Given the description of an element on the screen output the (x, y) to click on. 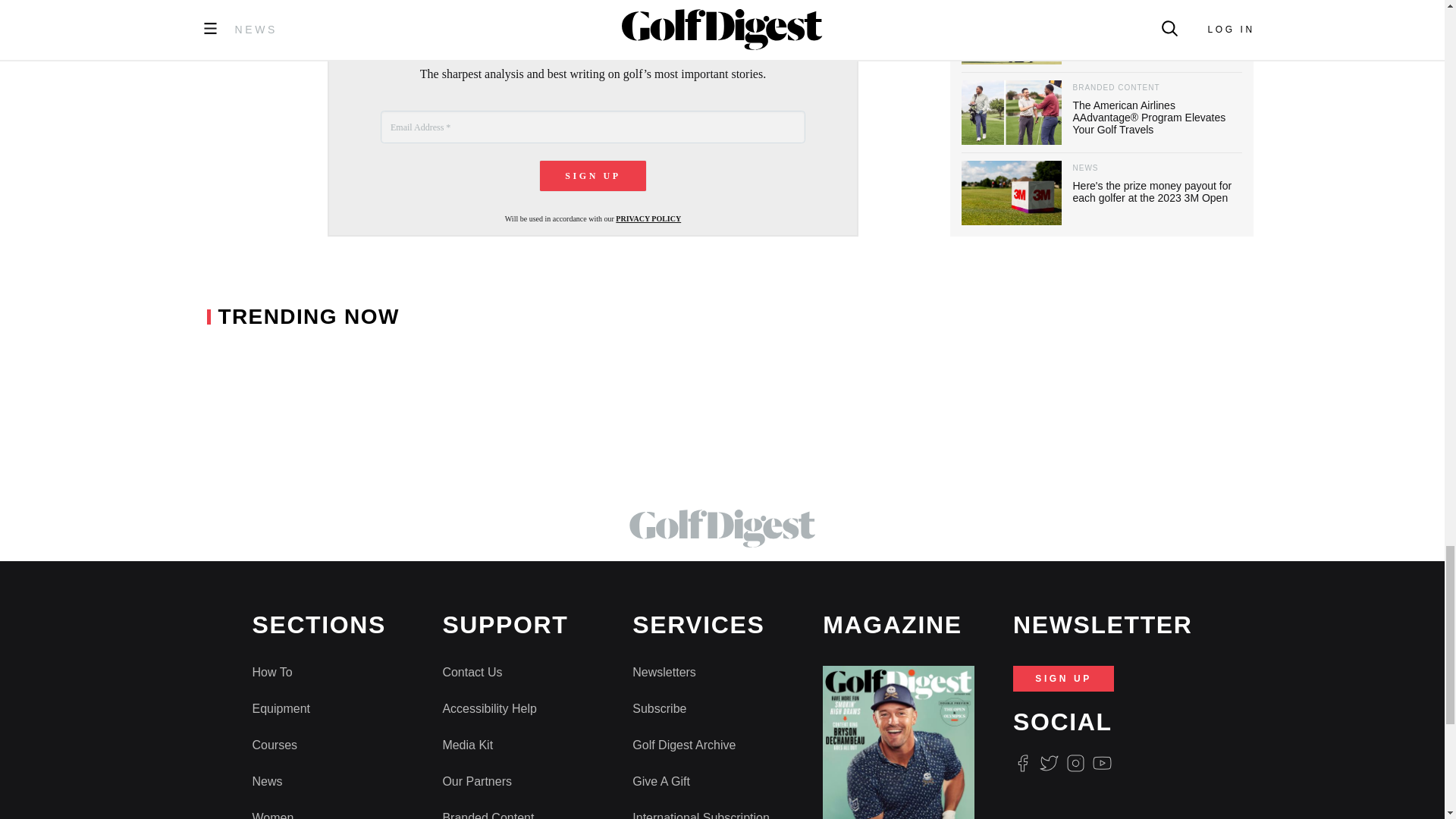
Sign up (593, 175)
Instagram Logo (1074, 763)
Facebook Logo (1022, 763)
Twitter Logo (1048, 763)
Youtube Icon (1102, 763)
